Given the description of an element on the screen output the (x, y) to click on. 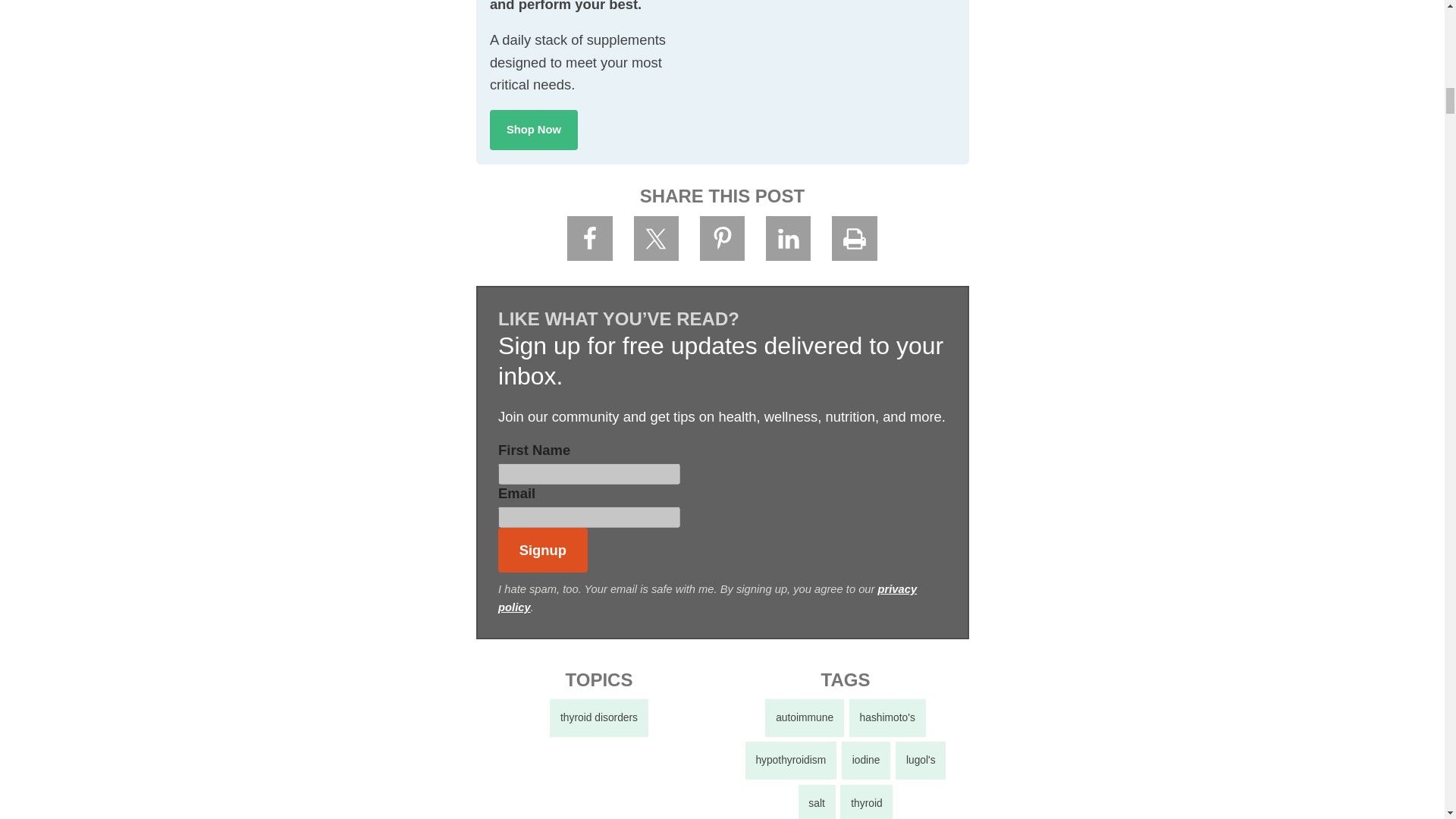
Share on Facebook (589, 238)
Share on Pinterest (722, 238)
Share on Twitter (656, 238)
Print this Page (854, 238)
Signup (542, 549)
Share on LinkedIn (787, 238)
